Given the description of an element on the screen output the (x, y) to click on. 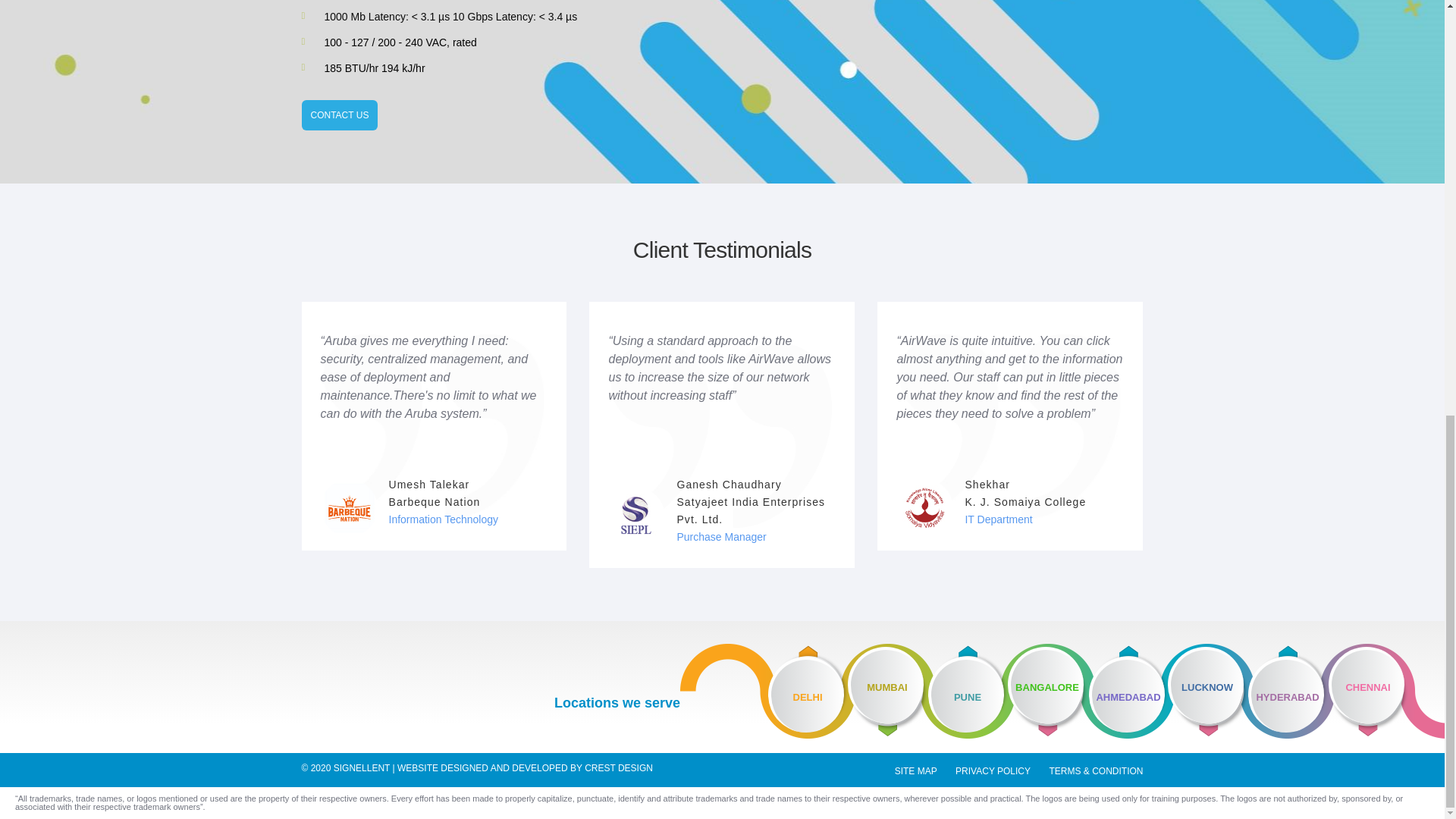
CONTACT US (339, 114)
Locations we serve (616, 702)
CHENNAI (1385, 690)
